Given the description of an element on the screen output the (x, y) to click on. 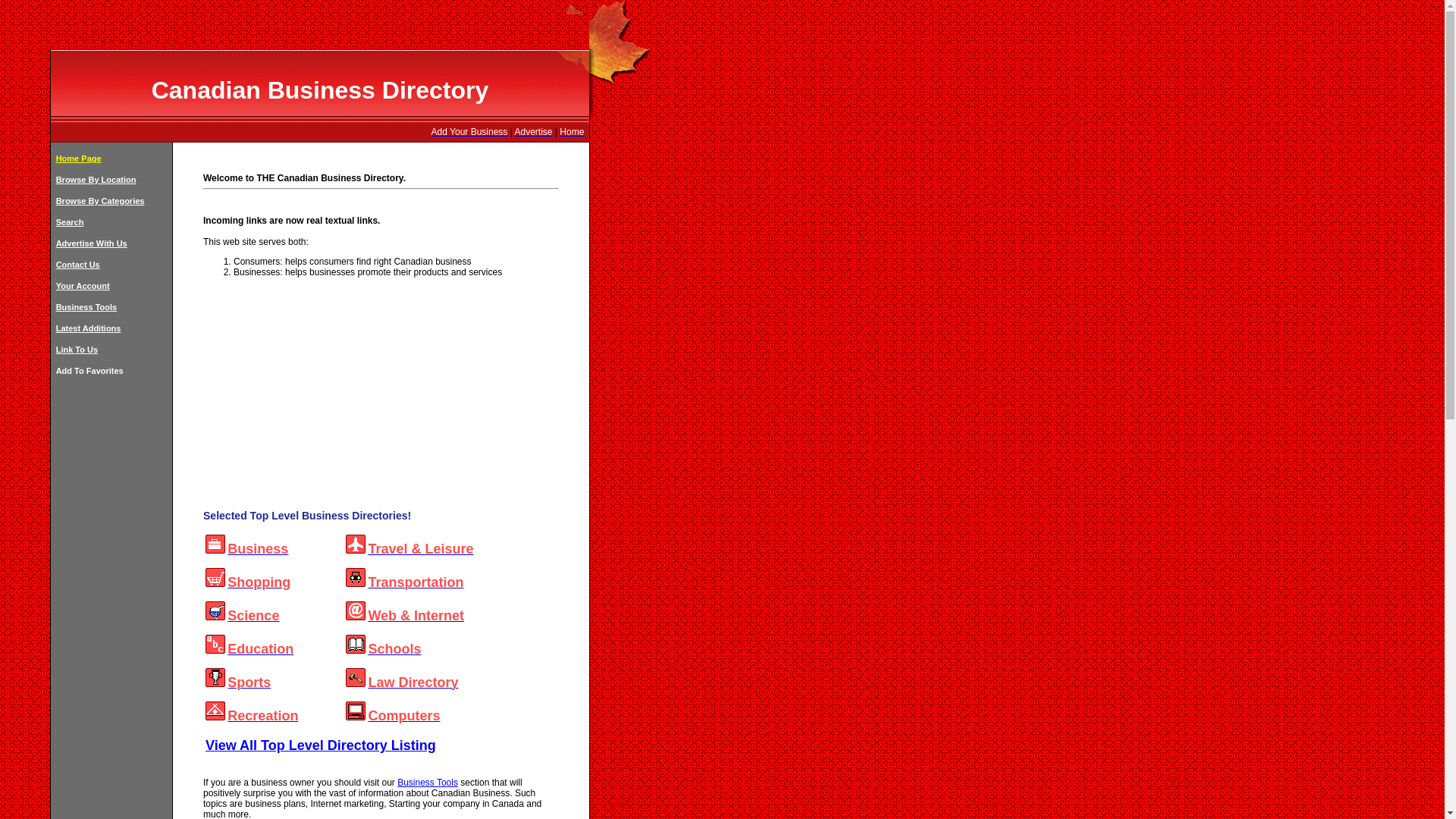
Home (571, 131)
Home Page (78, 157)
Latest Additions (88, 327)
Education (260, 650)
Sports (248, 683)
Science (253, 616)
View All Top Level Directory Listing (320, 744)
Recreation (262, 716)
Law Directory (413, 683)
Business (257, 550)
Contact Us (78, 264)
Business Tools (86, 307)
Computers (403, 716)
Browse By Location (96, 179)
Add Your Business (469, 131)
